Given the description of an element on the screen output the (x, y) to click on. 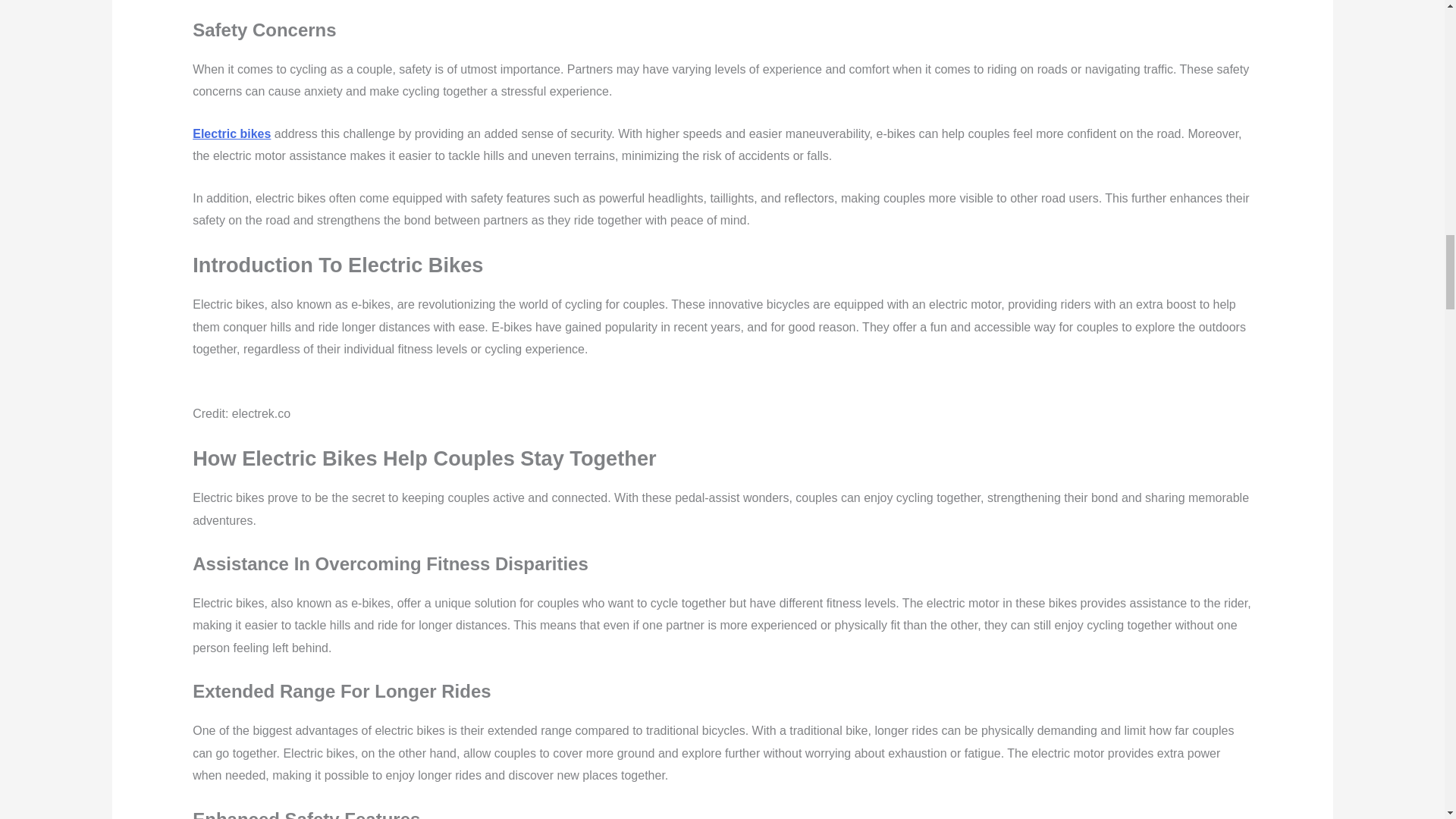
Electric bikes (231, 133)
